Given the description of an element on the screen output the (x, y) to click on. 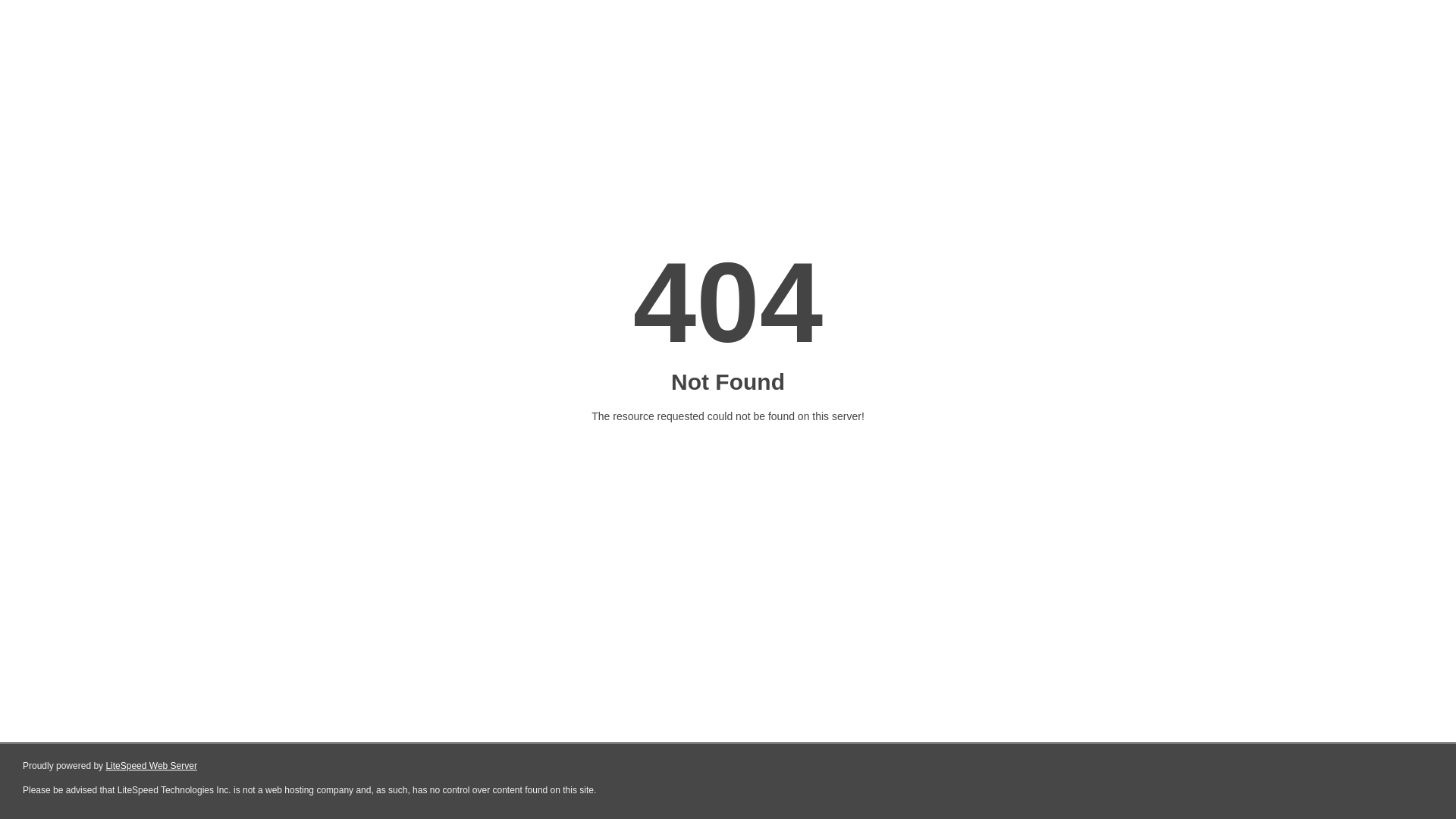
LiteSpeed Web Server Element type: text (151, 765)
